Given the description of an element on the screen output the (x, y) to click on. 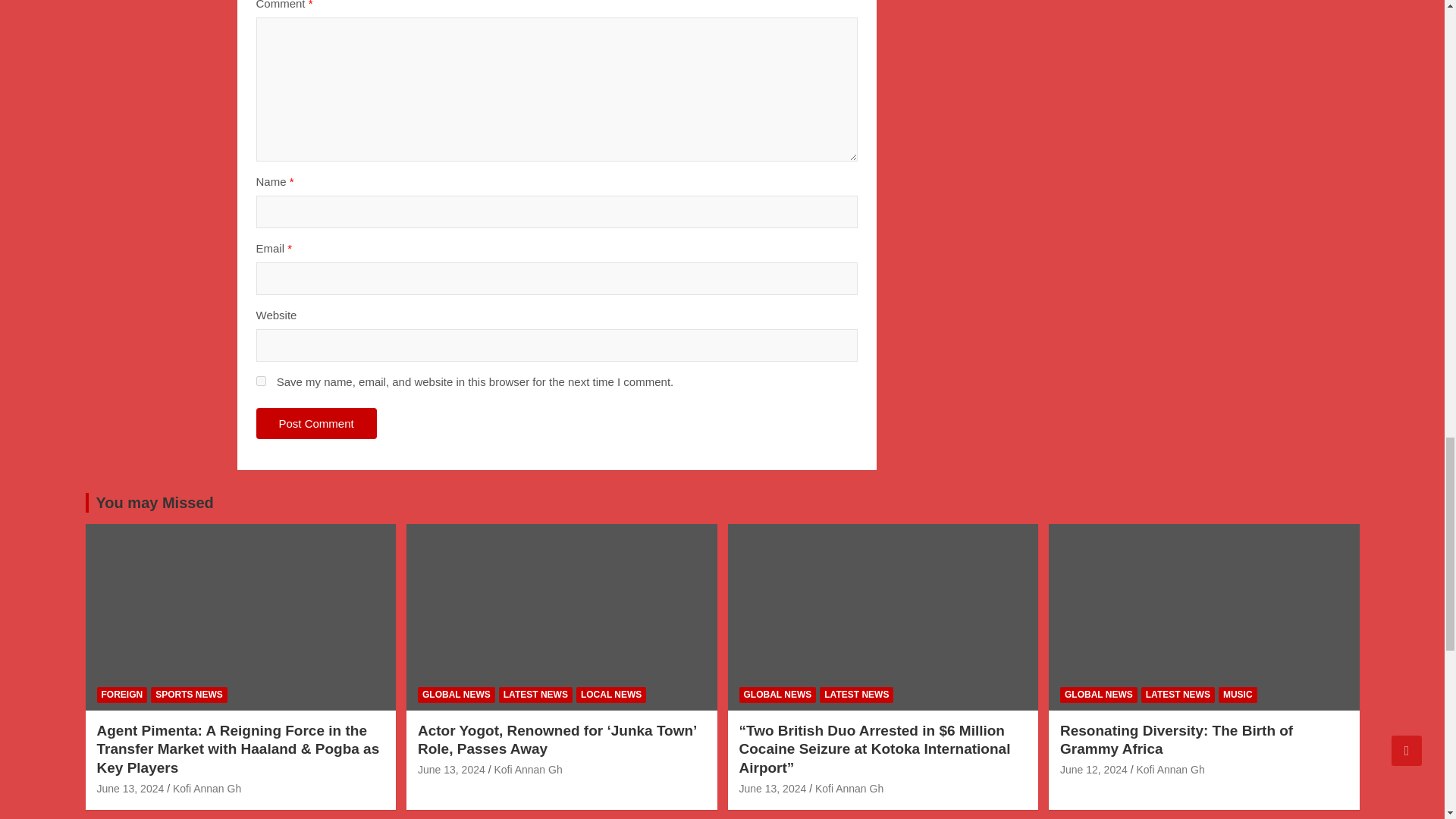
yes (261, 380)
Post Comment (316, 422)
Resonating Diversity: The Birth of Grammy Africa (1092, 769)
